Given the description of an element on the screen output the (x, y) to click on. 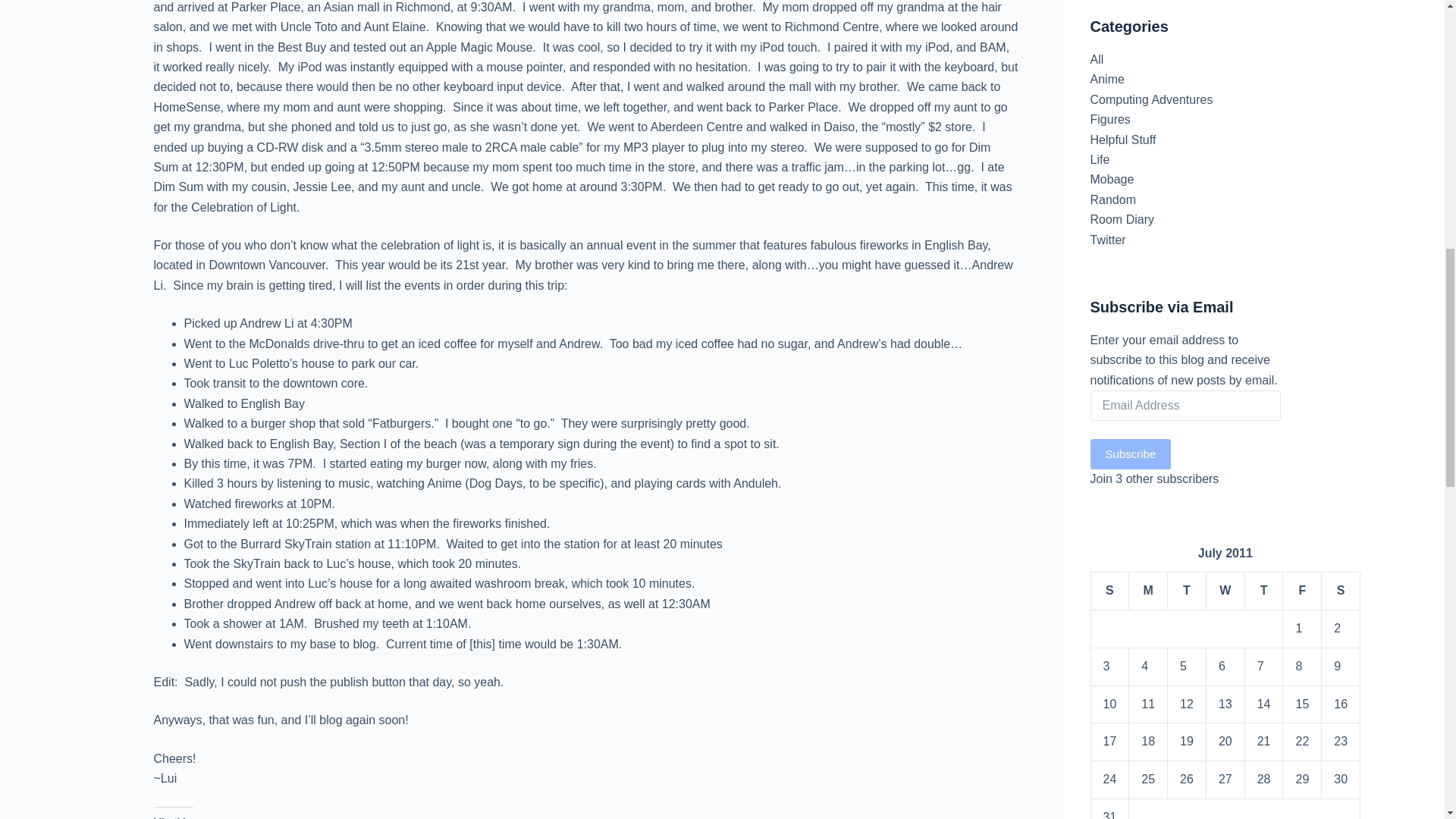
Friday (1302, 591)
Wednesday (1224, 591)
Tuesday (1187, 591)
Saturday (1340, 591)
Thursday (1263, 591)
Sunday (1109, 591)
Monday (1148, 591)
